Given the description of an element on the screen output the (x, y) to click on. 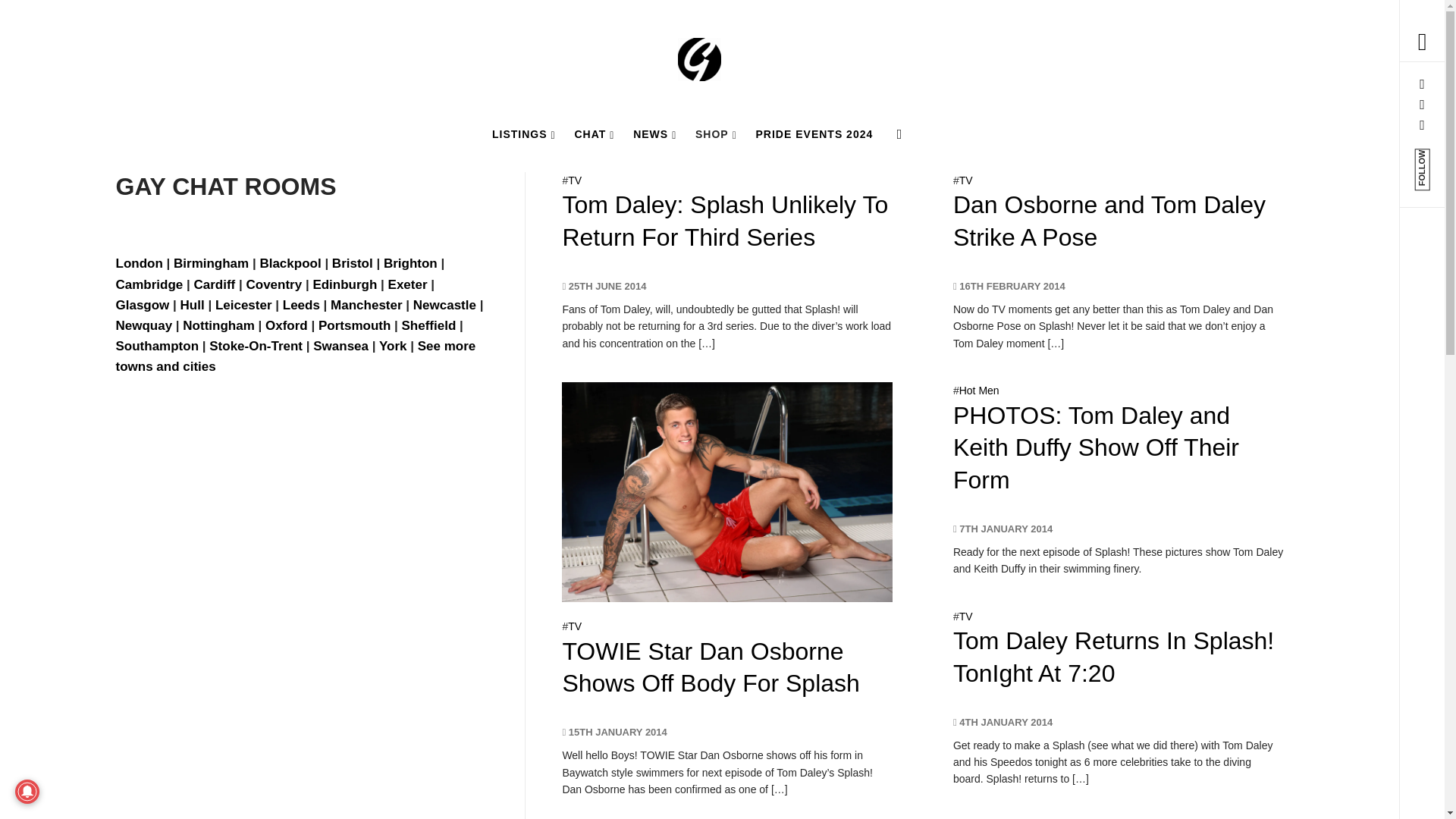
NEWS (655, 134)
TOWIE Star Dan Osborne Shows Off Body For Splash 1 (727, 491)
LISTINGS (523, 134)
SHOP (715, 134)
Tom Daley: Splash Unlikely To Return For Third Series (725, 220)
25TH JUNE 2014 (604, 285)
TV (965, 180)
TV (573, 180)
Dan Osborne and Tom Daley Strike A Pose (1109, 220)
PRIDE EVENTS 2024 (814, 134)
CHAT (593, 134)
Search (646, 37)
